Given the description of an element on the screen output the (x, y) to click on. 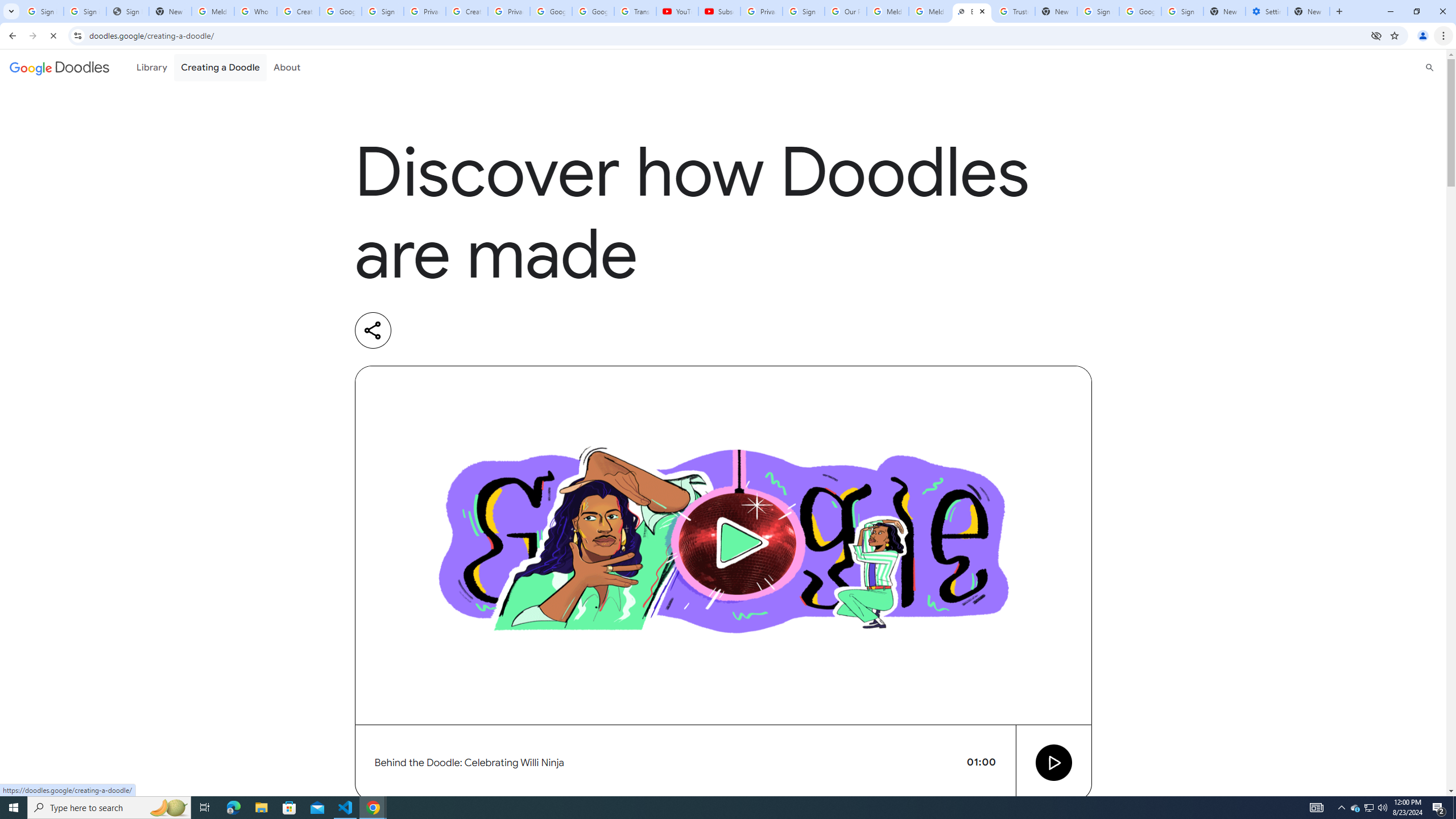
Share (372, 330)
Sign in - Google Accounts (1097, 11)
New Tab (1308, 11)
Sign in - Google Accounts (803, 11)
Share on Linkedin (419, 330)
Library (151, 67)
Google Account (592, 11)
